Given the description of an element on the screen output the (x, y) to click on. 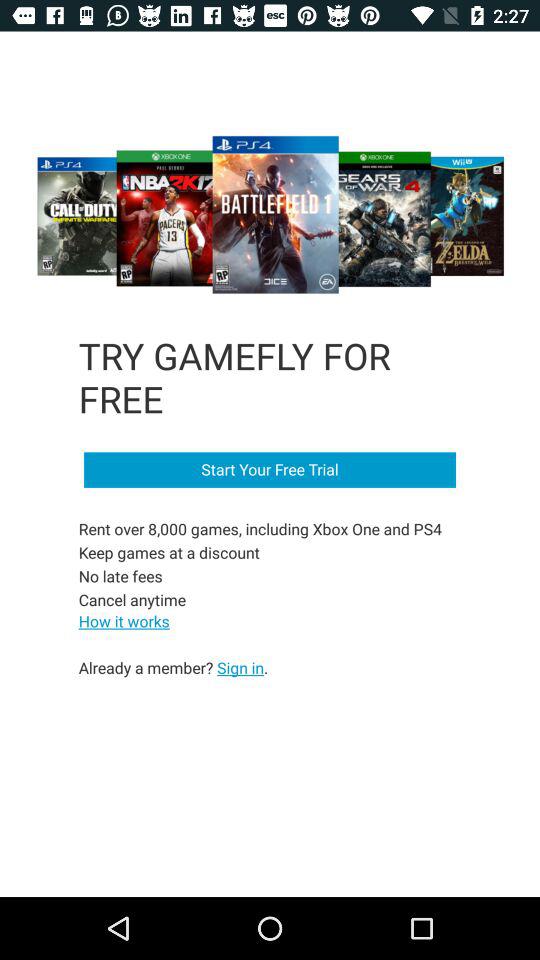
press the item below the rent over 8 item (123, 620)
